Given the description of an element on the screen output the (x, y) to click on. 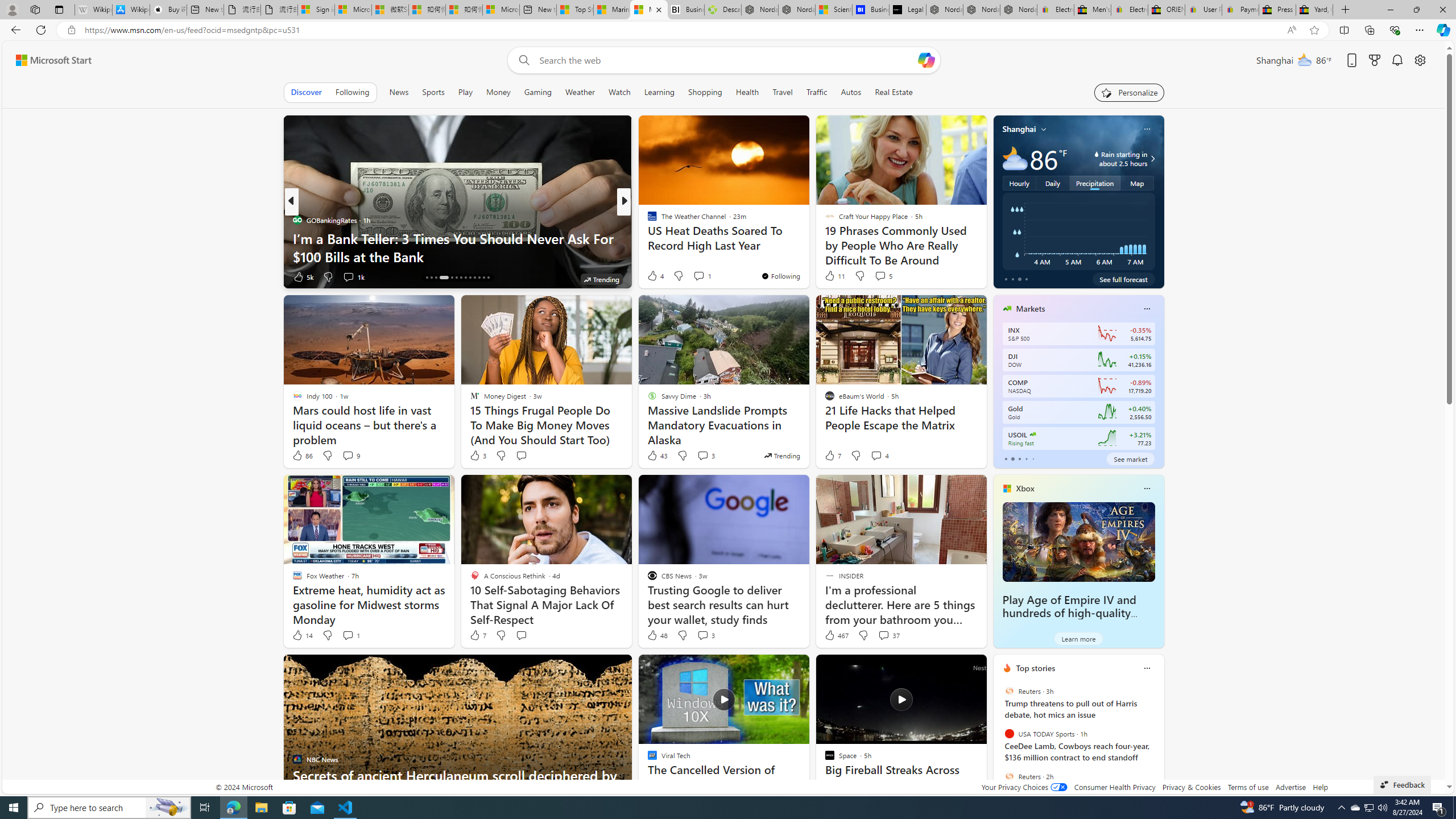
User Privacy Notice | eBay (1203, 9)
Skip to footer (46, 59)
Terms of use (1247, 786)
GOBankingRates (296, 219)
Press Room - eBay Inc. (1276, 9)
Nordace - Summer Adventures 2024 (759, 9)
water-drop-icon (1096, 154)
The Cool Down (647, 219)
View comments 11 Comment (703, 276)
Class: weather-arrow-glyph (1152, 158)
467 Like (835, 634)
